Given the description of an element on the screen output the (x, y) to click on. 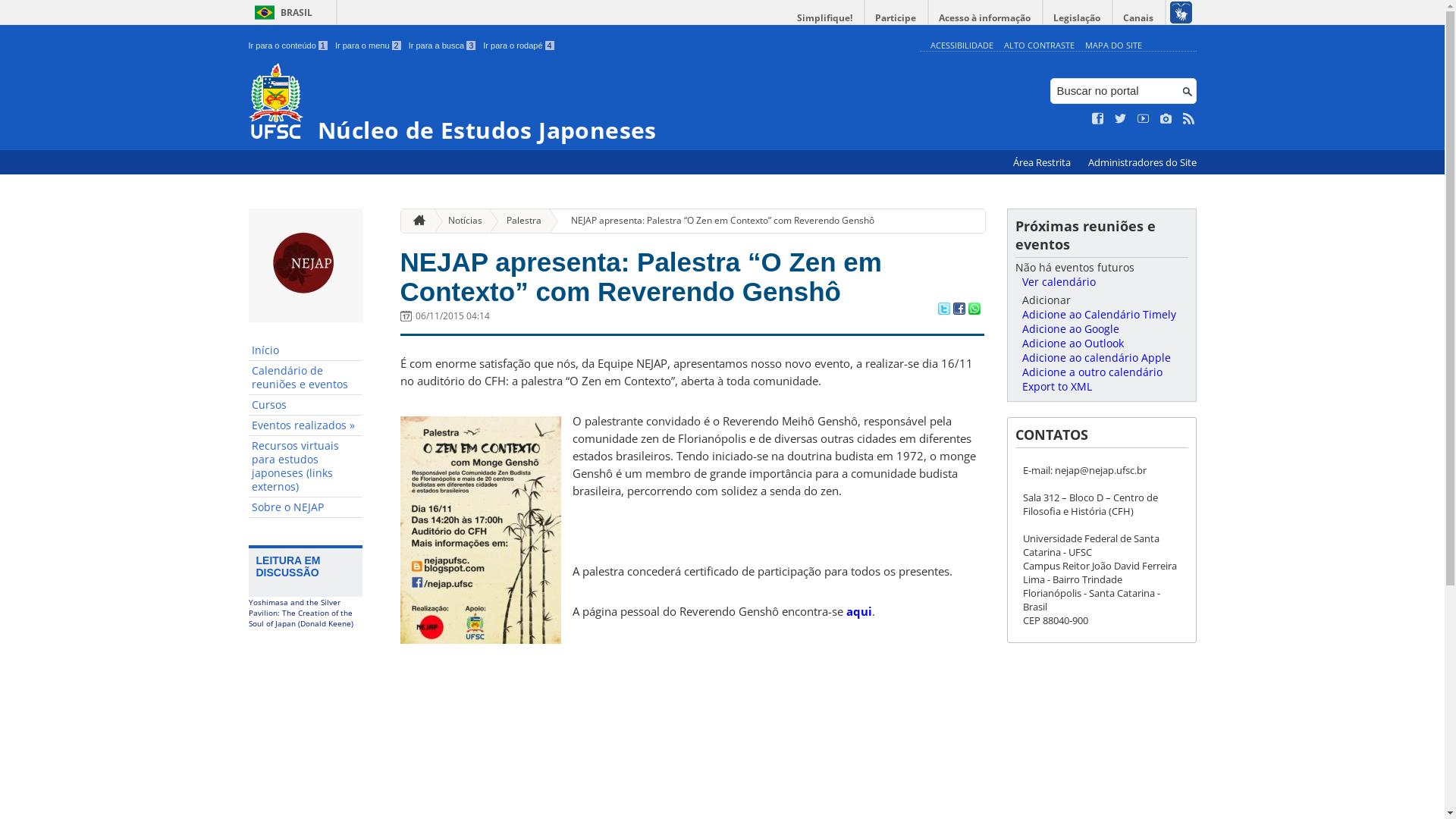
Veja no Instagram Element type: hover (1166, 118)
Adicione ao Outlook Element type: text (1072, 342)
Cursos Element type: text (305, 405)
Siga no Twitter Element type: hover (1120, 118)
BRASIL Element type: text (280, 12)
Participe Element type: text (895, 18)
Palestra Element type: text (517, 220)
aqui Element type: text (859, 610)
ACESSIBILIDADE Element type: text (960, 44)
Canais Element type: text (1138, 18)
MAPA DO SITE Element type: text (1112, 44)
Adicione ao Google Element type: text (1070, 328)
Ir para o menu 2 Element type: text (368, 45)
Compartilhar no Facebook Element type: hover (958, 309)
Sobre o NEJAP Element type: text (305, 507)
Ir para a busca 3 Element type: text (442, 45)
Simplifique! Element type: text (825, 18)
Export to XML Element type: text (1057, 386)
Compartilhar no WhatsApp Element type: hover (973, 309)
ALTO CONTRASTE Element type: text (1039, 44)
Administradores do Site Element type: text (1141, 162)
Curta no Facebook Element type: hover (1098, 118)
Compartilhar no Twitter Element type: hover (943, 309)
Recursos virtuais para estudos japoneses (links externos) Element type: text (305, 466)
